Given the description of an element on the screen output the (x, y) to click on. 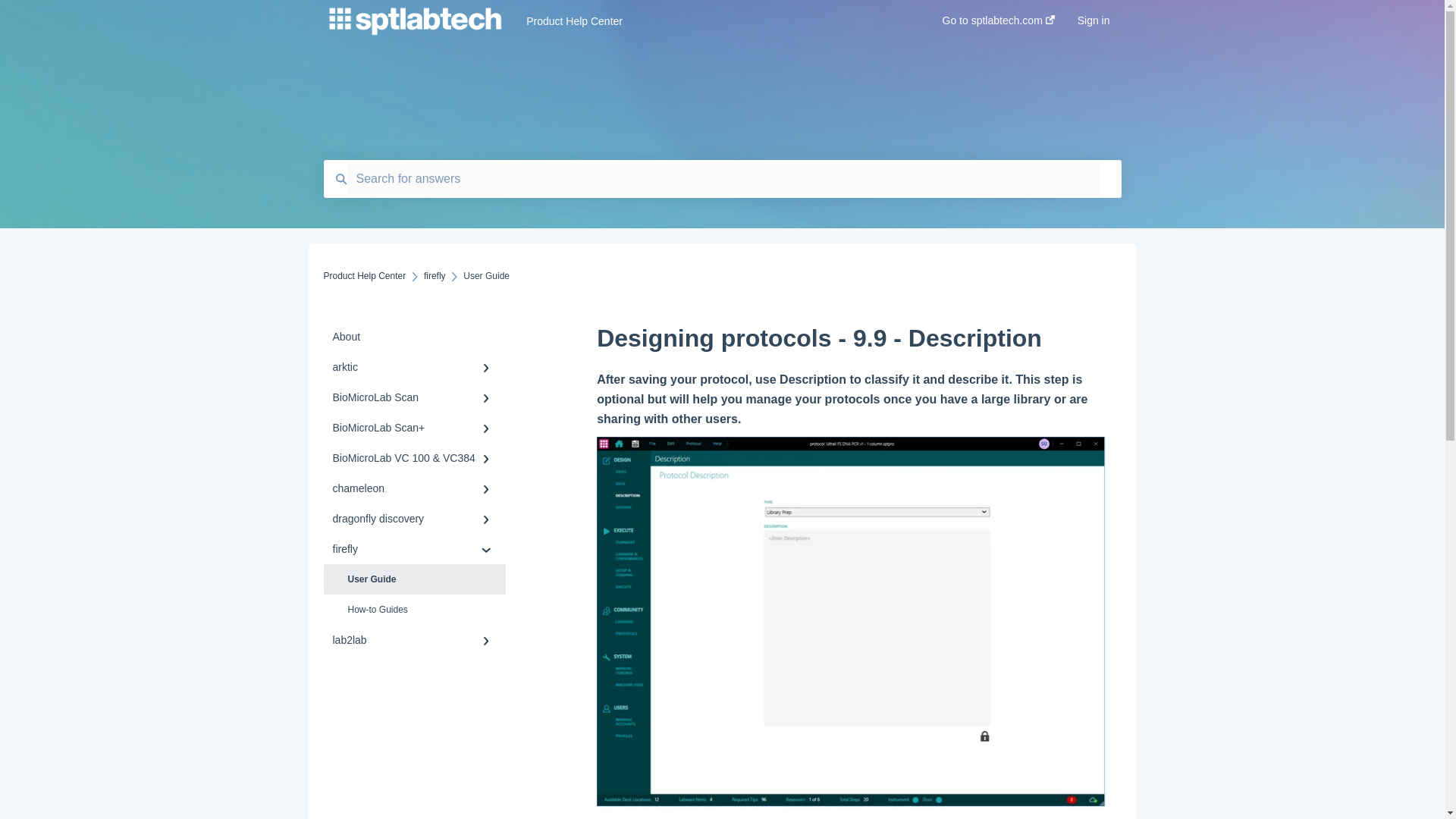
BioMicroLab Scan (414, 397)
Product Help Center (710, 21)
Product Help Center (364, 276)
arktic (414, 367)
firefly (434, 276)
About (414, 336)
Go to sptlabtech.com (998, 25)
